Given the description of an element on the screen output the (x, y) to click on. 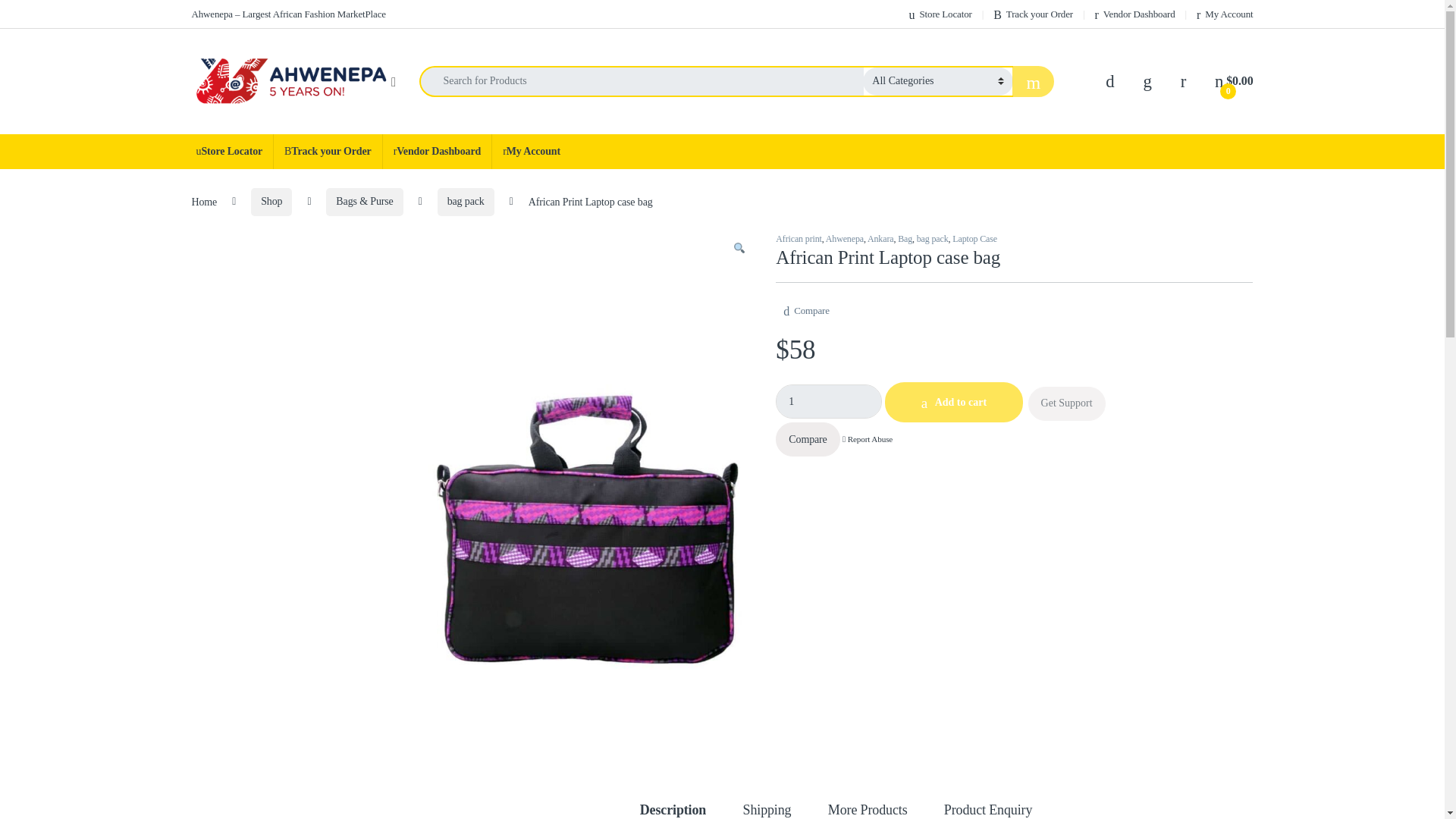
Vendor Dashboard (436, 151)
My Account (531, 151)
My Account (1224, 13)
Laptop Case (974, 238)
Store Locator (228, 151)
Shop (271, 202)
Store Locator (940, 13)
Home (203, 201)
Ahwenepa (844, 238)
My Account (531, 151)
Compare (806, 305)
Vendor Dashboard (1134, 13)
My Account (1224, 13)
bag pack (466, 202)
Store Locator (228, 151)
